Given the description of an element on the screen output the (x, y) to click on. 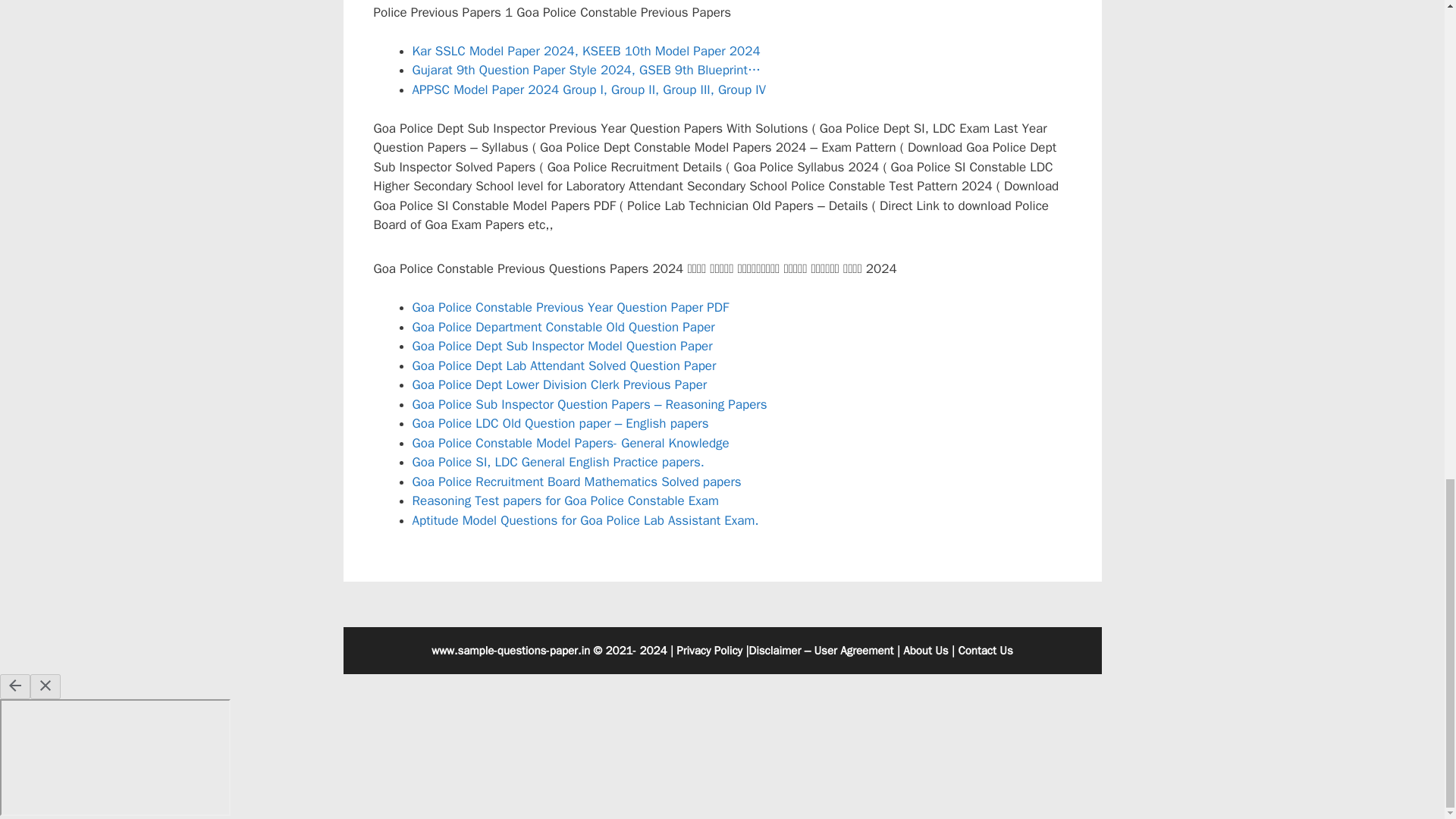
Goa Police Constable Model papers- General Knowledge (570, 442)
Goa Police SI, LDC General English Practice papers. (558, 462)
Goa Police Recruitment Board Mathematics Solved papers (576, 481)
Contact Us (985, 650)
Aptitude Model Questions for Goa Police Lab Assistant Exam. (585, 520)
Goa Police Constable Model Papers- General Knowledge (570, 442)
Goa Police Constable Previous Year Question Paper PDF (570, 307)
Privacy Policy (709, 650)
Goa Police Department Constable Old Question Paper (563, 326)
Goa Police Dept Sub Inspector Model Question Paper (562, 345)
About Us (924, 650)
Goa Police Dept Lower Division Clerk Previous Paper (559, 384)
Goa Police Dept Lab Attendant Solved Question Paper (564, 365)
Goa Police SI, LDC General English Practice papers. (558, 462)
